Given the description of an element on the screen output the (x, y) to click on. 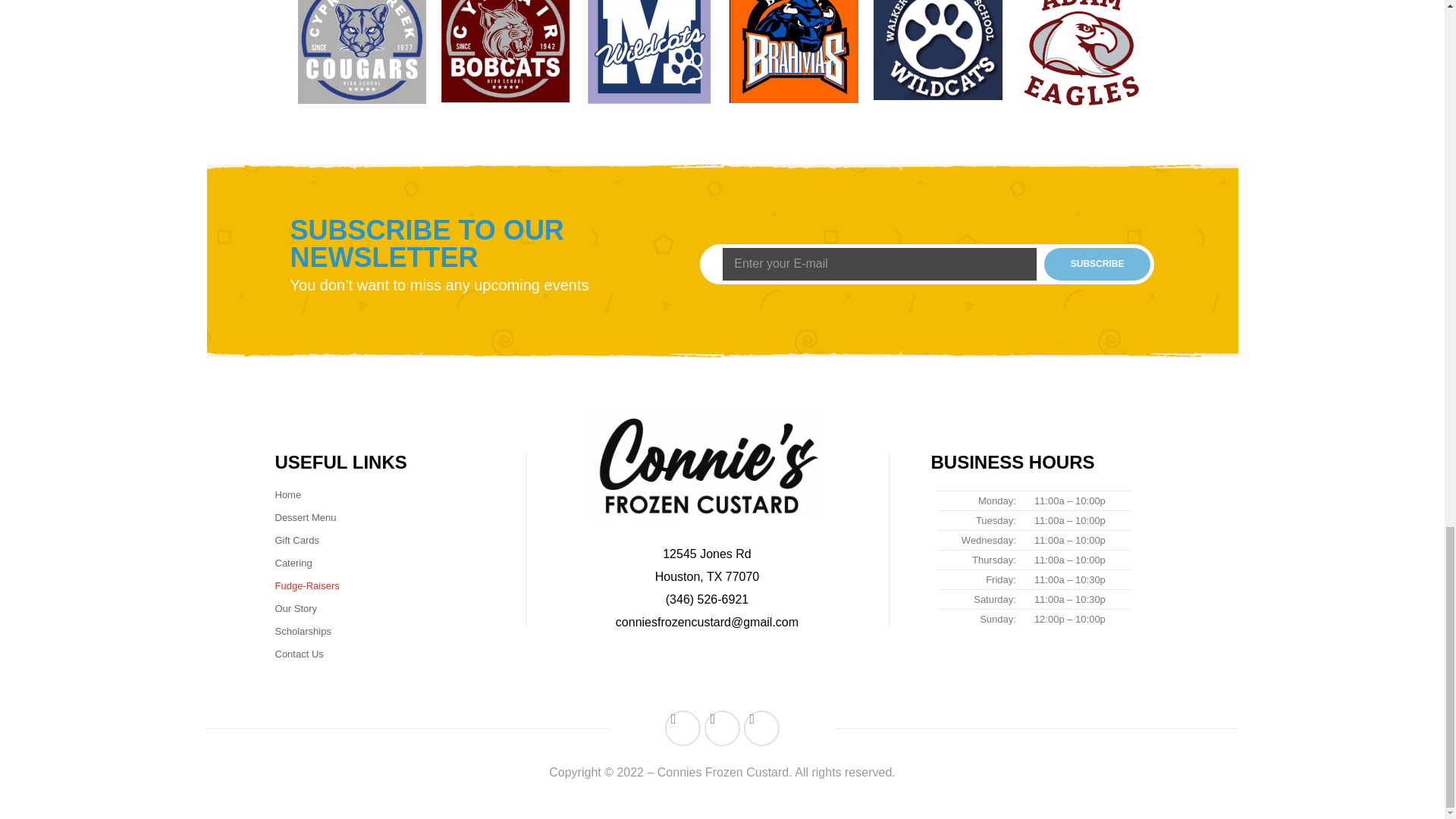
Home (288, 494)
SUBSCRIBE (1097, 264)
Fudge-Raisers (307, 586)
Catering (293, 563)
Dessert Menu (305, 517)
Scholarships (302, 631)
Our Story (296, 608)
Contact Us (299, 654)
Gift Cards (296, 540)
